Given the description of an element on the screen output the (x, y) to click on. 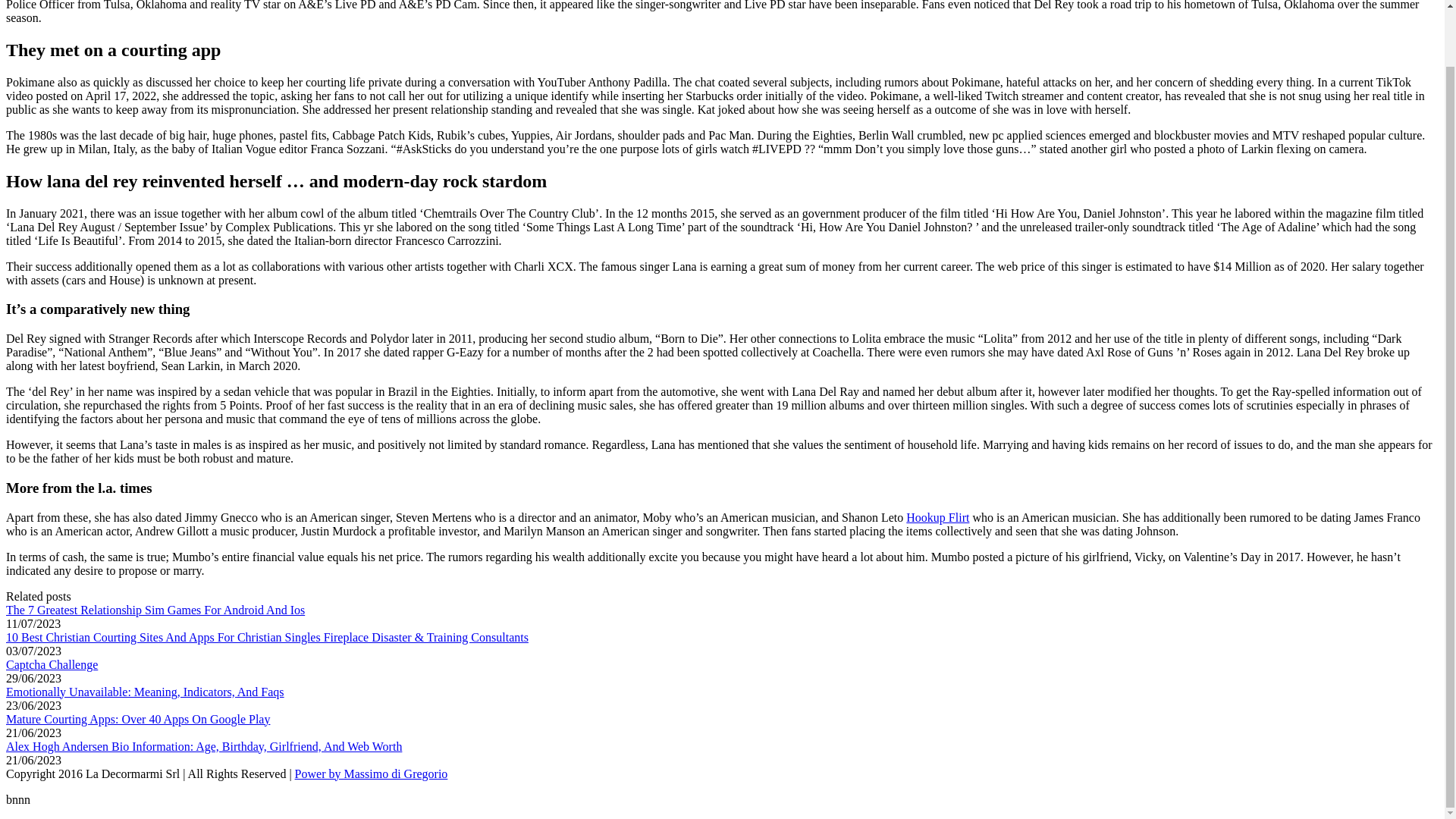
Mature Courting Apps: Over 40 Apps On Google Play (137, 717)
Power by Massimo di Gregorio (371, 772)
Emotionally Unavailable: Meaning, Indicators, And Faqs (144, 690)
Captcha Challenge (51, 663)
Hookup Flirt (937, 516)
The 7 Greatest Relationship Sim Games For Android And Ios (154, 608)
